Given the description of an element on the screen output the (x, y) to click on. 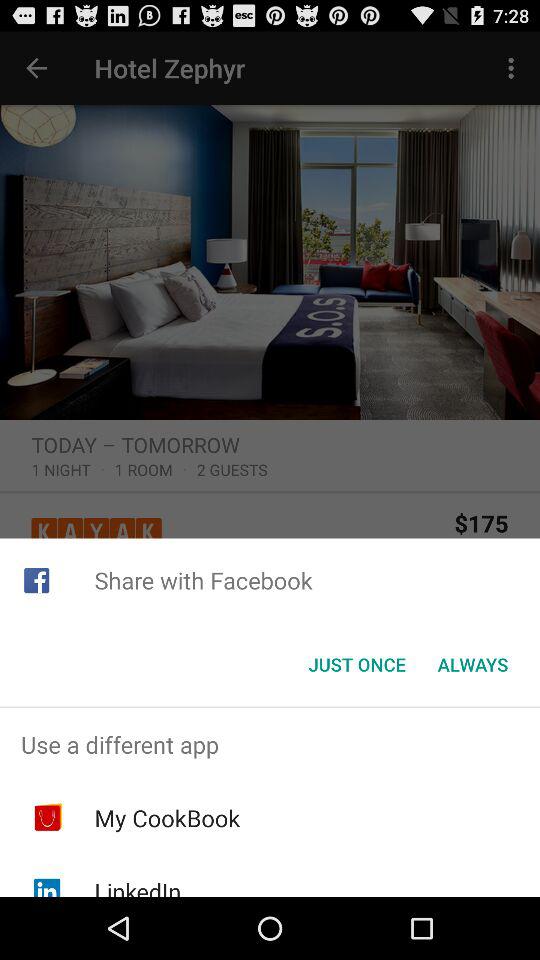
select icon below use a different icon (167, 817)
